Given the description of an element on the screen output the (x, y) to click on. 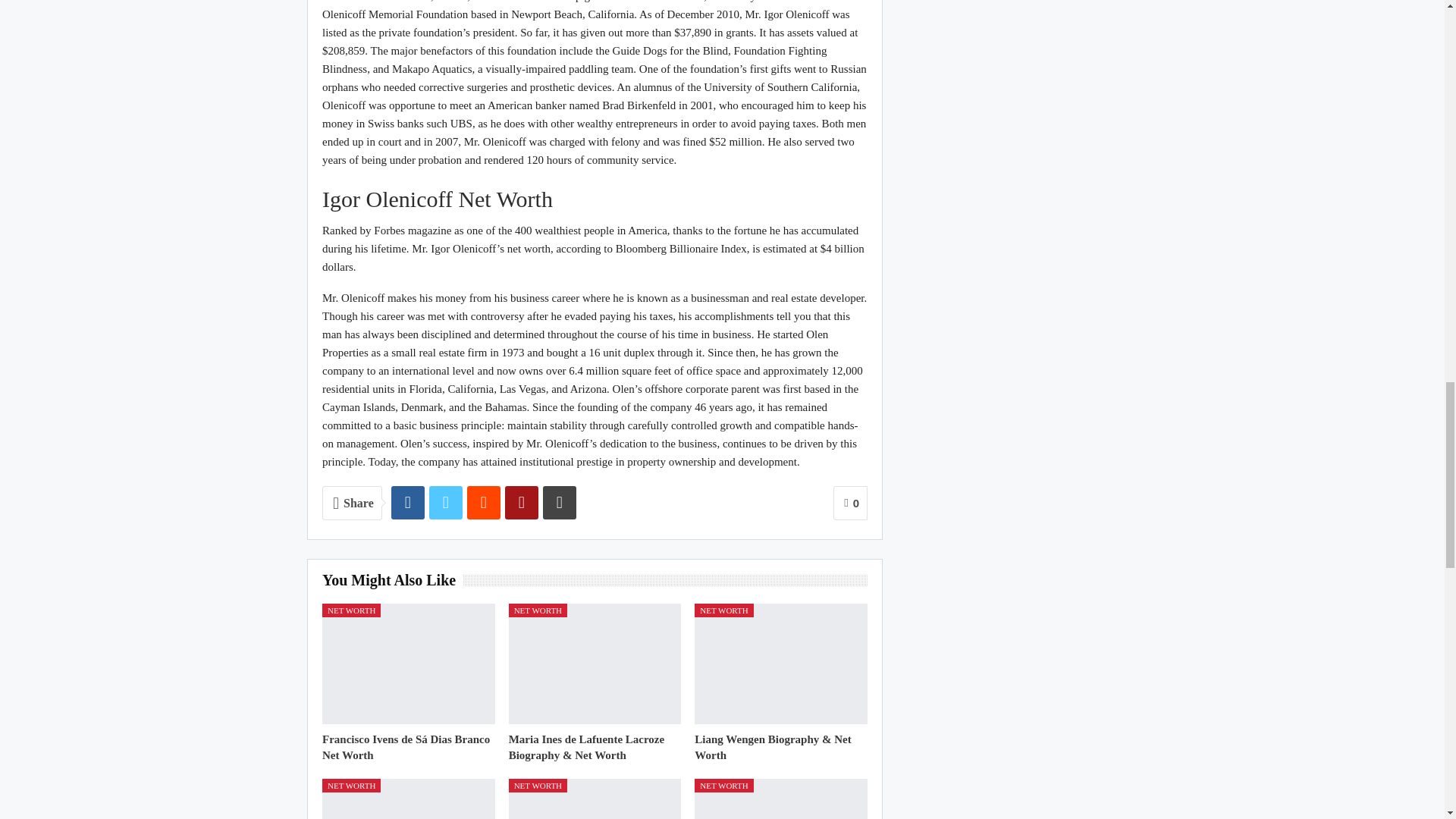
0 (849, 503)
NET WORTH (350, 610)
NET WORTH (723, 610)
NET WORTH (537, 610)
